Given the description of an element on the screen output the (x, y) to click on. 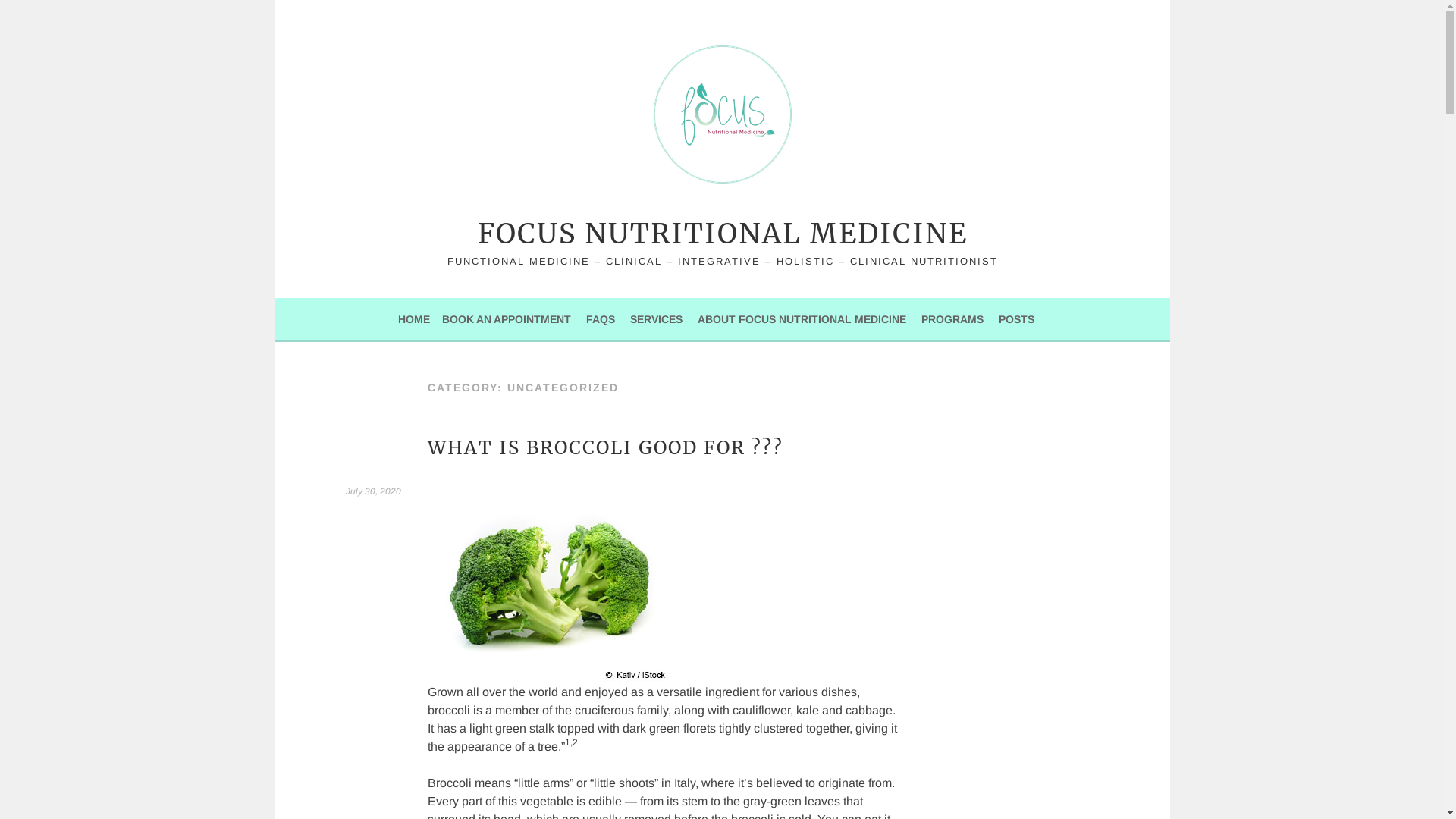
SERVICES Element type: text (656, 319)
FOCUS NUTRITIONAL MEDICINE Element type: text (722, 233)
ABOUT FOCUS NUTRITIONAL MEDICINE Element type: text (801, 319)
PROGRAMS Element type: text (952, 319)
POSTS Element type: text (1016, 319)
BOOK AN APPOINTMENT Element type: text (506, 319)
WHAT IS BROCCOLI GOOD FOR ??? Element type: text (605, 447)
HOME Element type: text (413, 319)
July 30, 2020 Element type: text (373, 491)
FAQS Element type: text (600, 319)
